Given the description of an element on the screen output the (x, y) to click on. 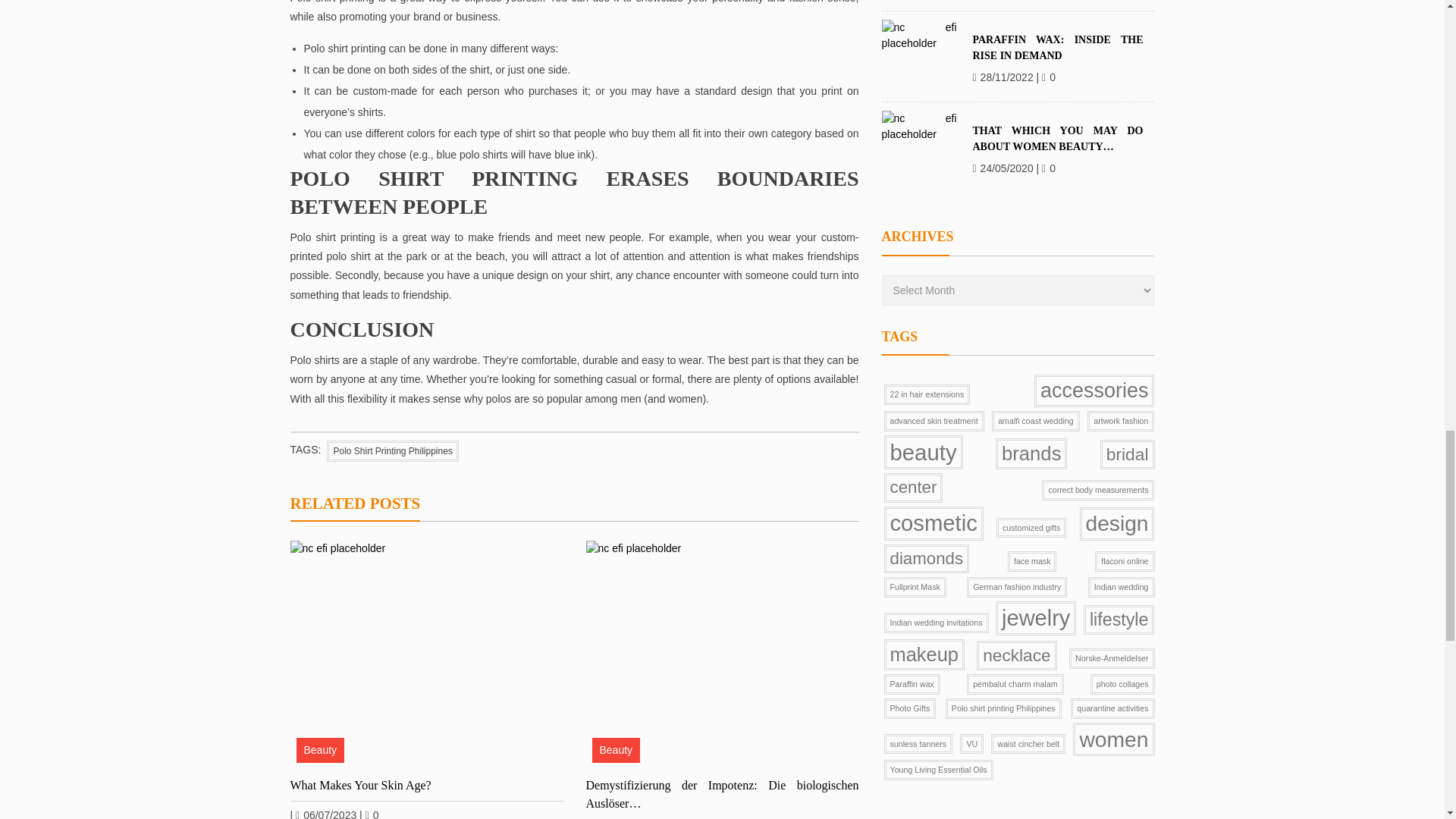
Beauty (615, 749)
Beauty (319, 749)
What Makes Your Skin Age? (425, 784)
Polo Shirt Printing Philippines (392, 450)
0 (371, 814)
What Makes Your Skin Age? (425, 654)
